Given the description of an element on the screen output the (x, y) to click on. 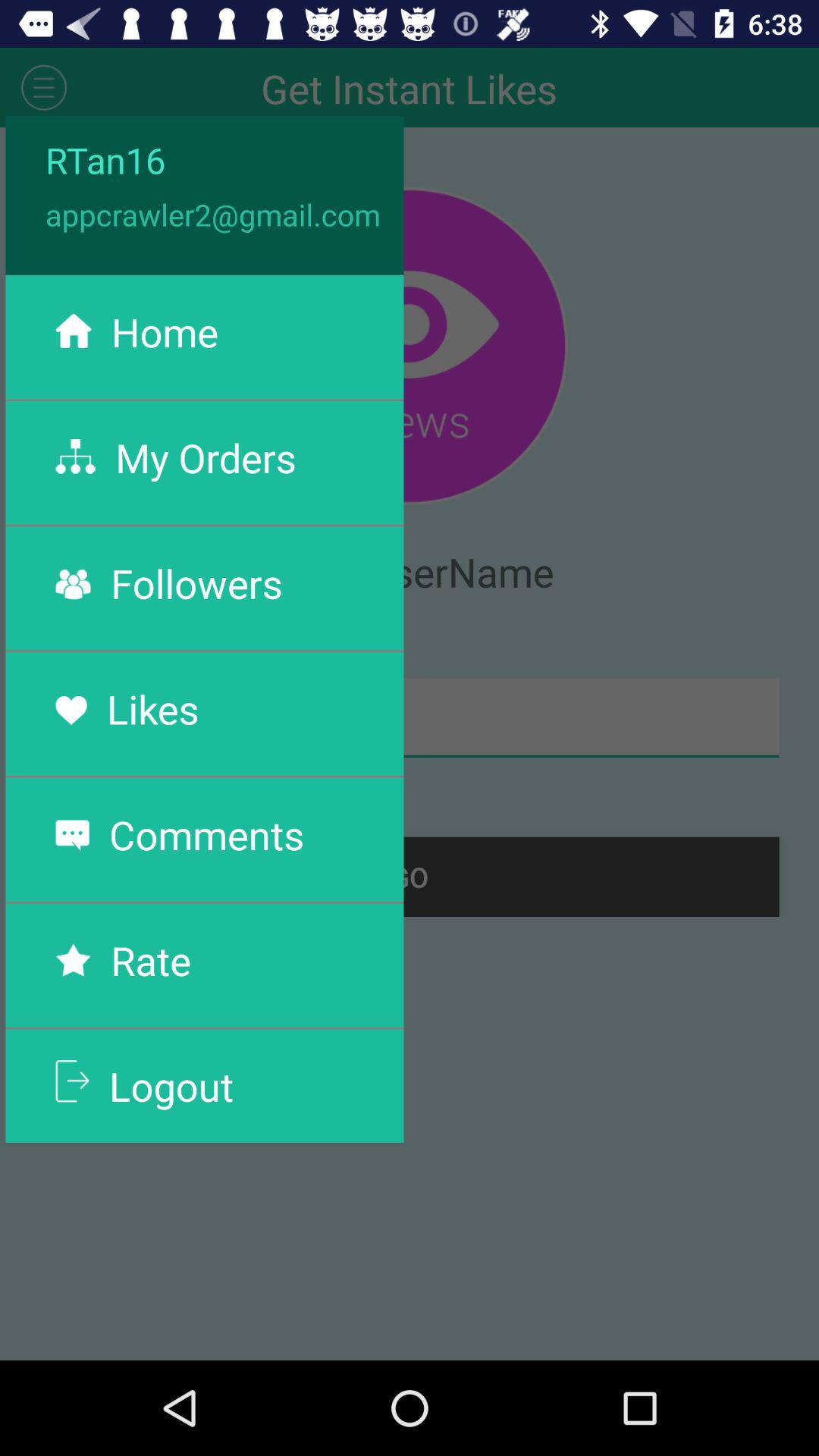
turn on the followers app (196, 582)
